Given the description of an element on the screen output the (x, y) to click on. 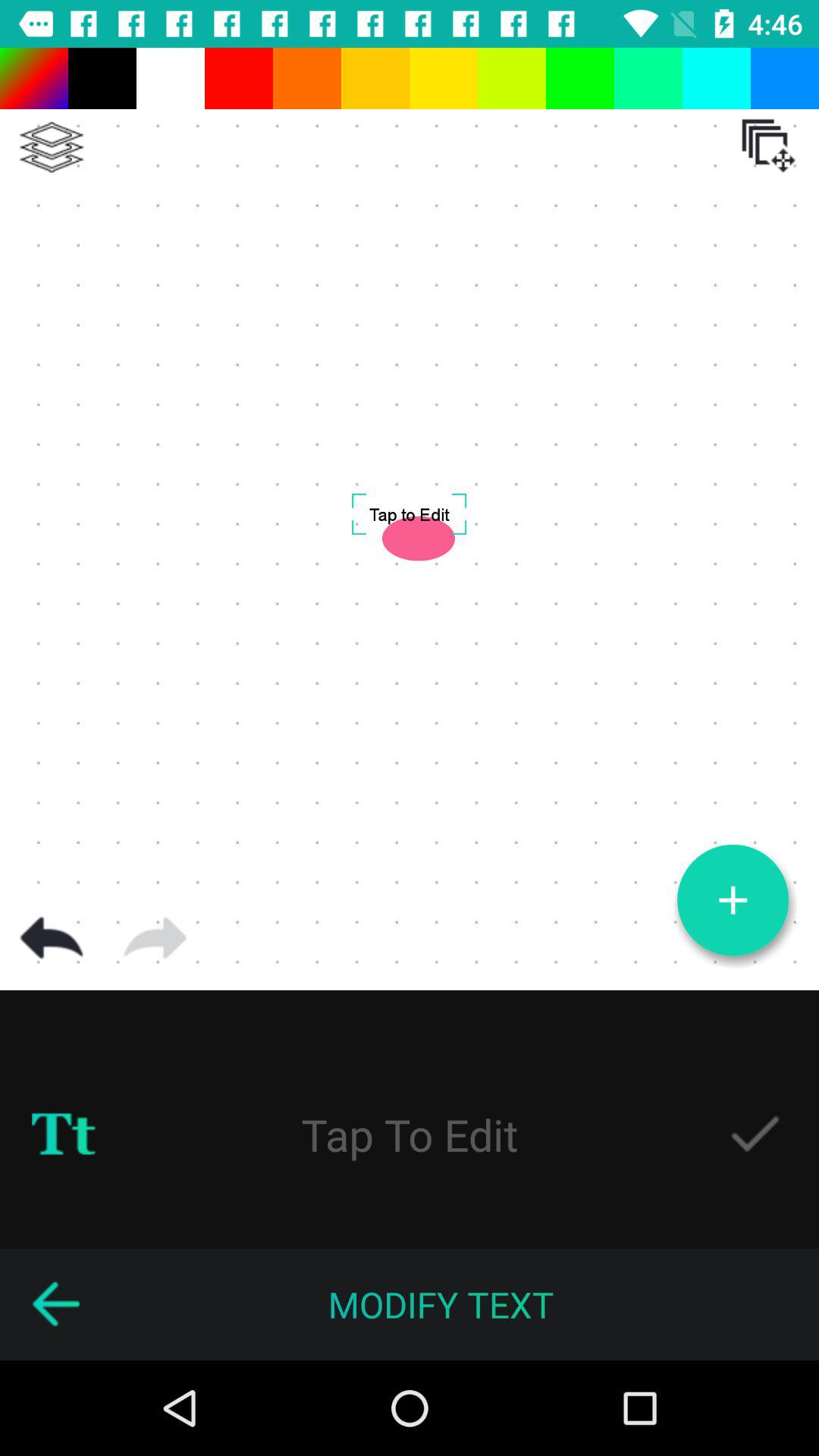
redo action (155, 938)
